Given the description of an element on the screen output the (x, y) to click on. 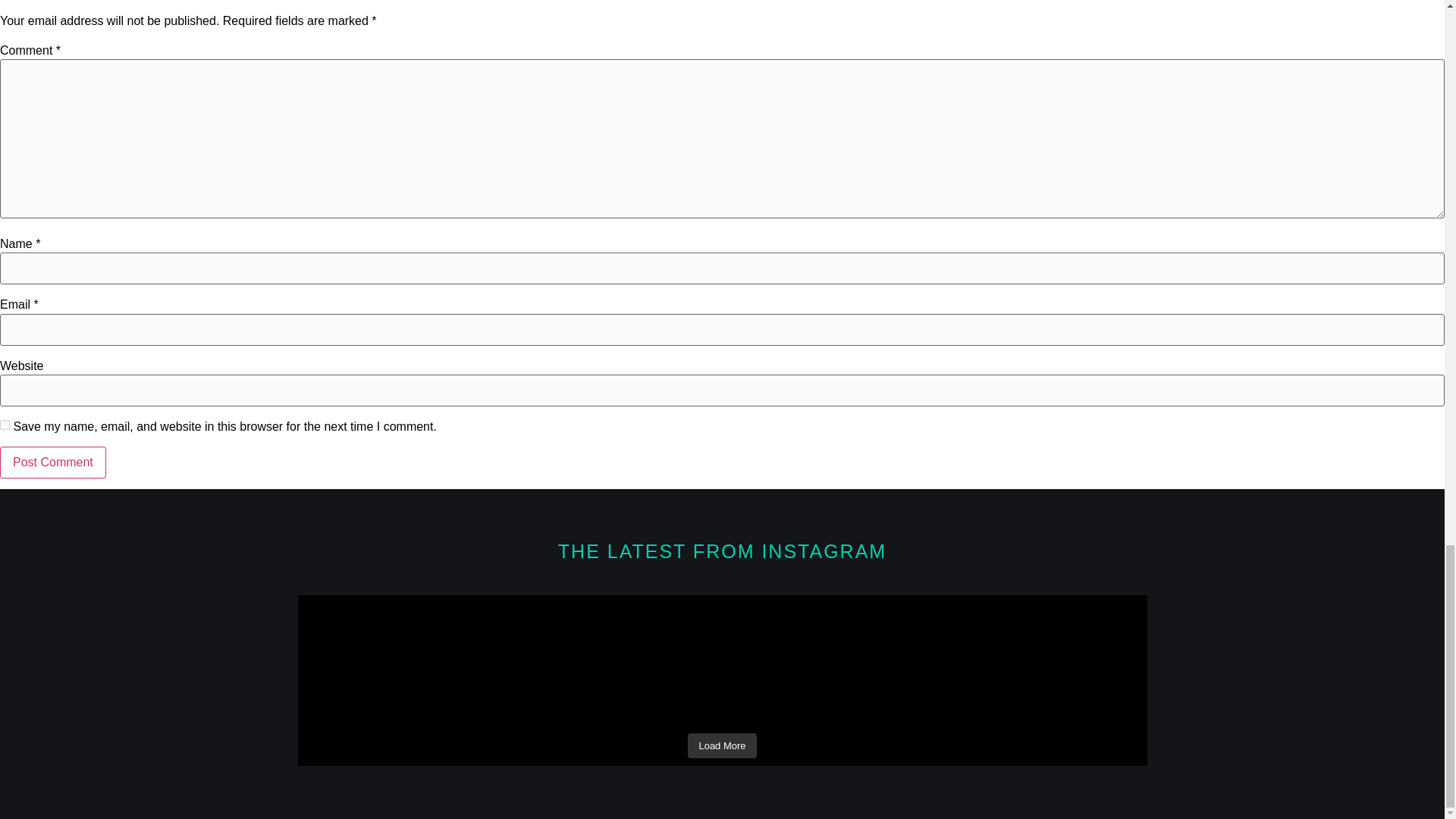
Post Comment (53, 462)
yes (5, 424)
Load More (721, 746)
Post Comment (53, 462)
